Given the description of an element on the screen output the (x, y) to click on. 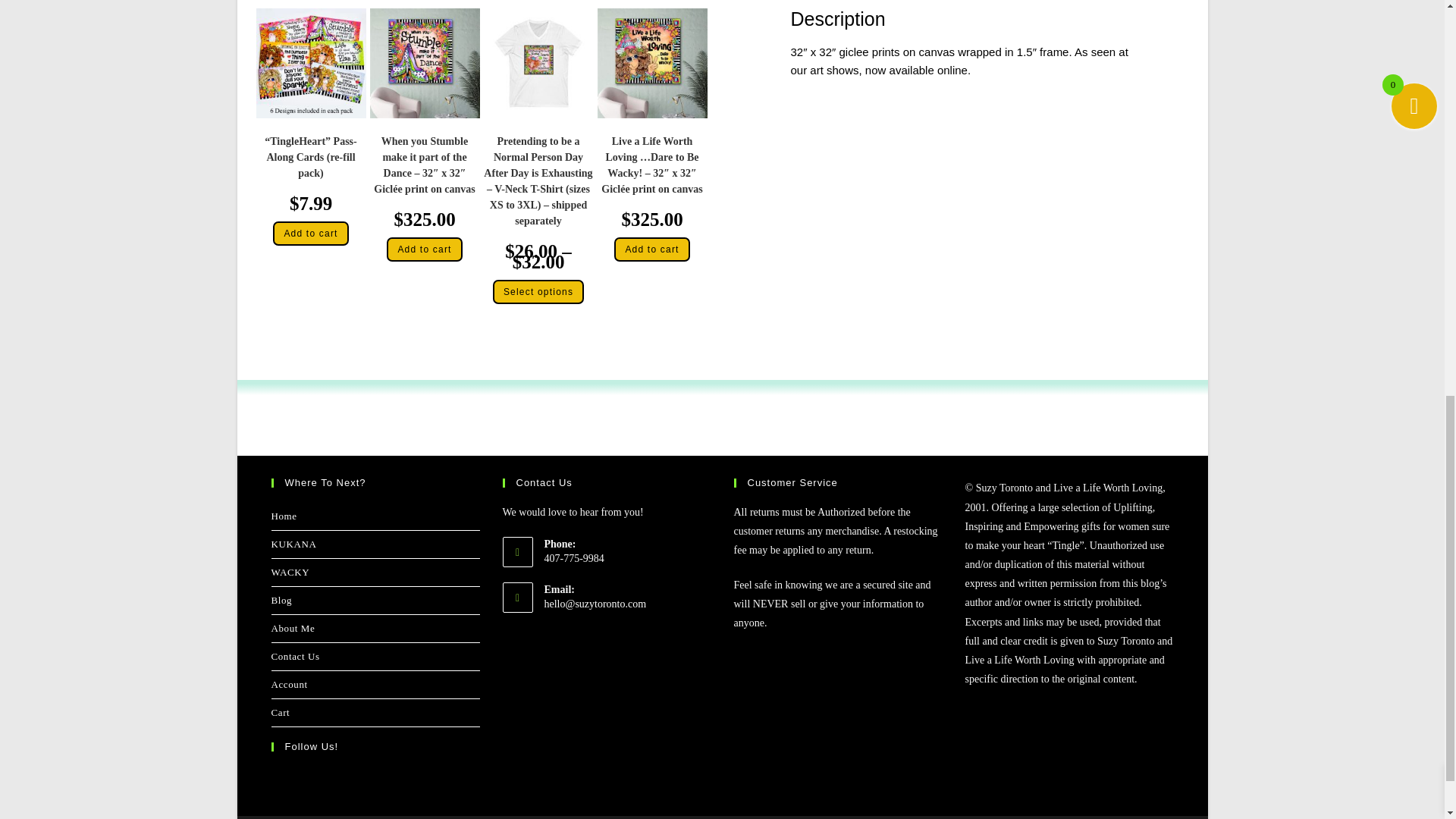
Follow Us on YouTube (410, 778)
Follow Us on Pinterest (378, 778)
Follow Us on Facebook (282, 778)
Follow Us on Instagram (346, 778)
Follow Us on Twitter (314, 778)
Add to cart (310, 233)
